Given the description of an element on the screen output the (x, y) to click on. 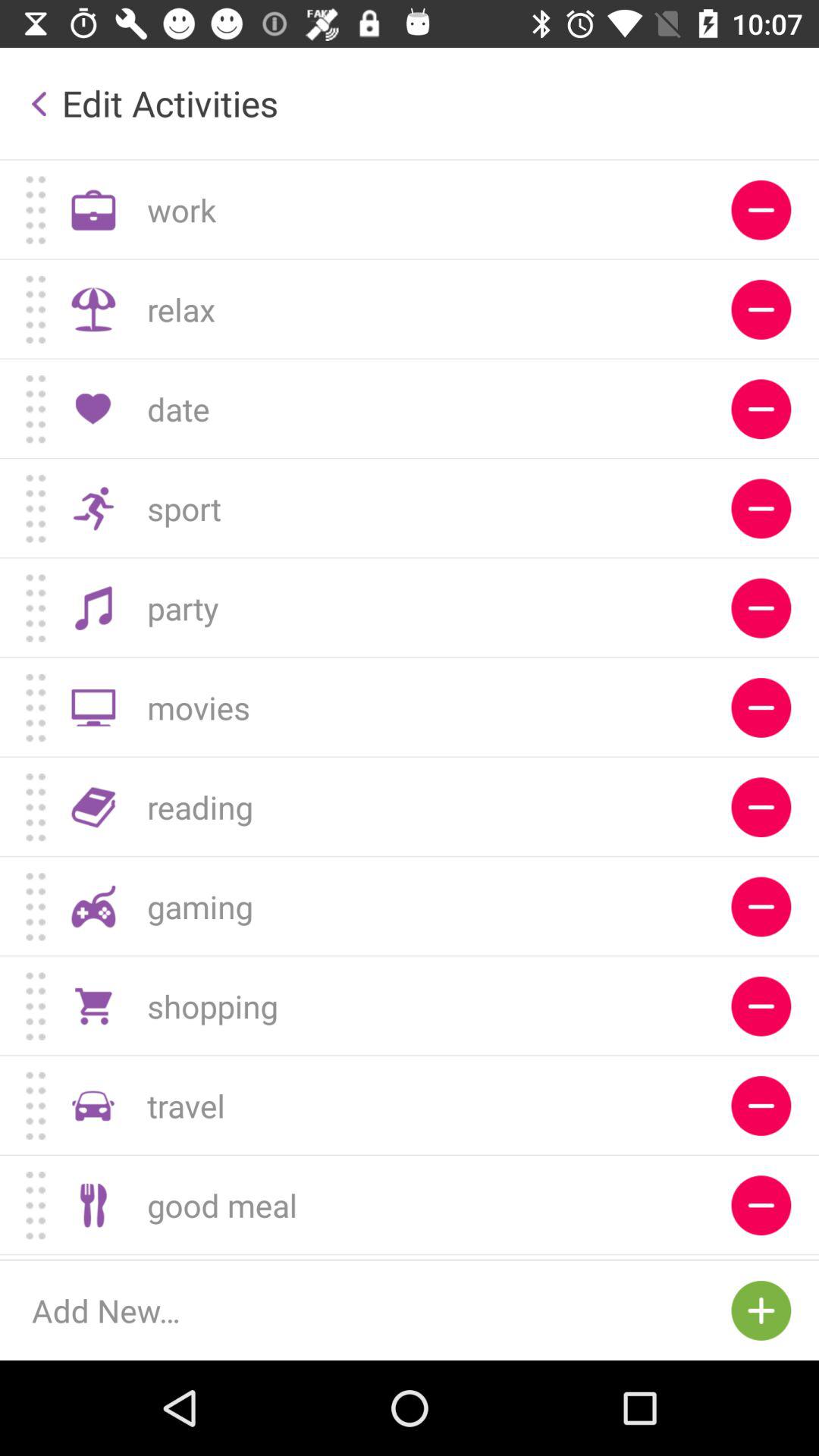
delete gaming activity (761, 906)
